Given the description of an element on the screen output the (x, y) to click on. 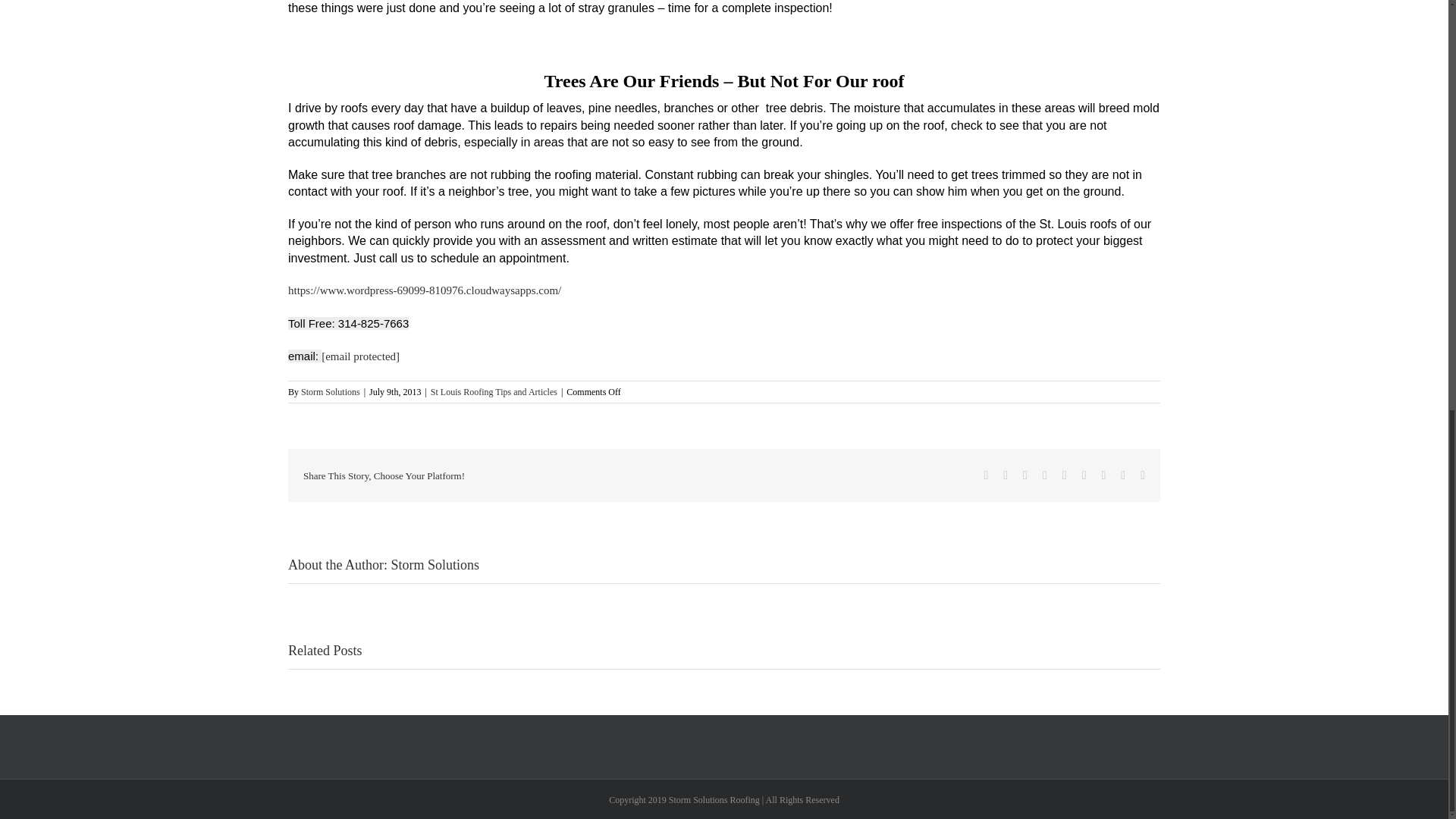
Posts by Storm Solutions (330, 391)
